Given the description of an element on the screen output the (x, y) to click on. 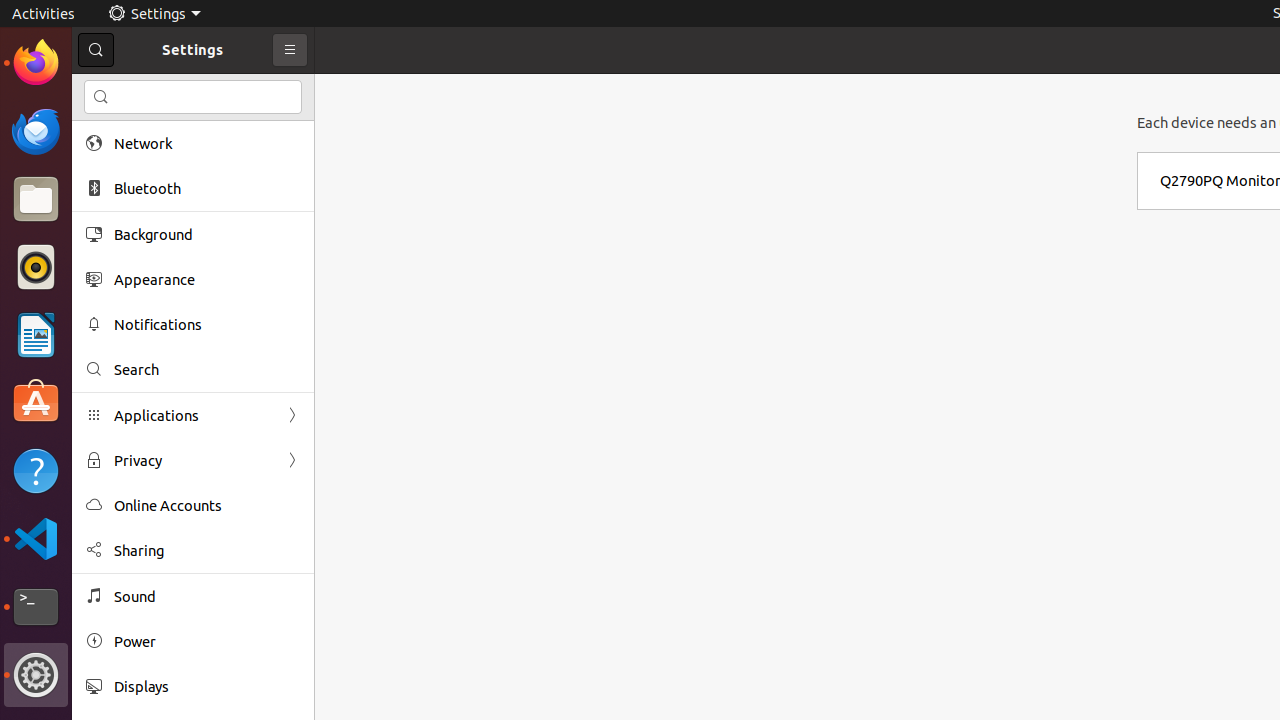
Displays Element type: label (207, 686)
Firefox Web Browser Element type: push-button (36, 63)
Applications Element type: label (193, 415)
Sound Element type: label (207, 596)
